Given the description of an element on the screen output the (x, y) to click on. 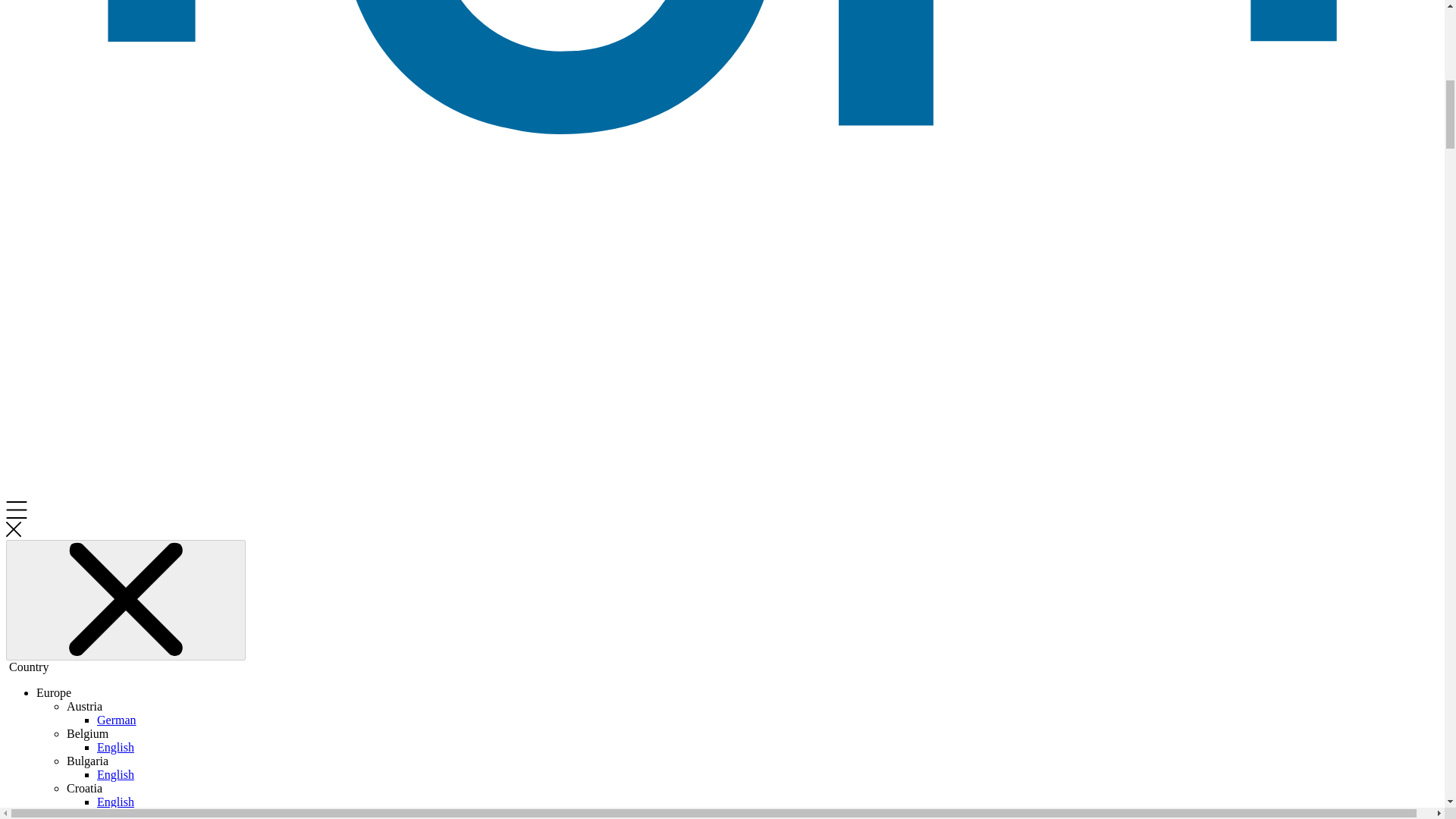
English (115, 747)
German (116, 719)
English (115, 801)
English (115, 774)
